Given the description of an element on the screen output the (x, y) to click on. 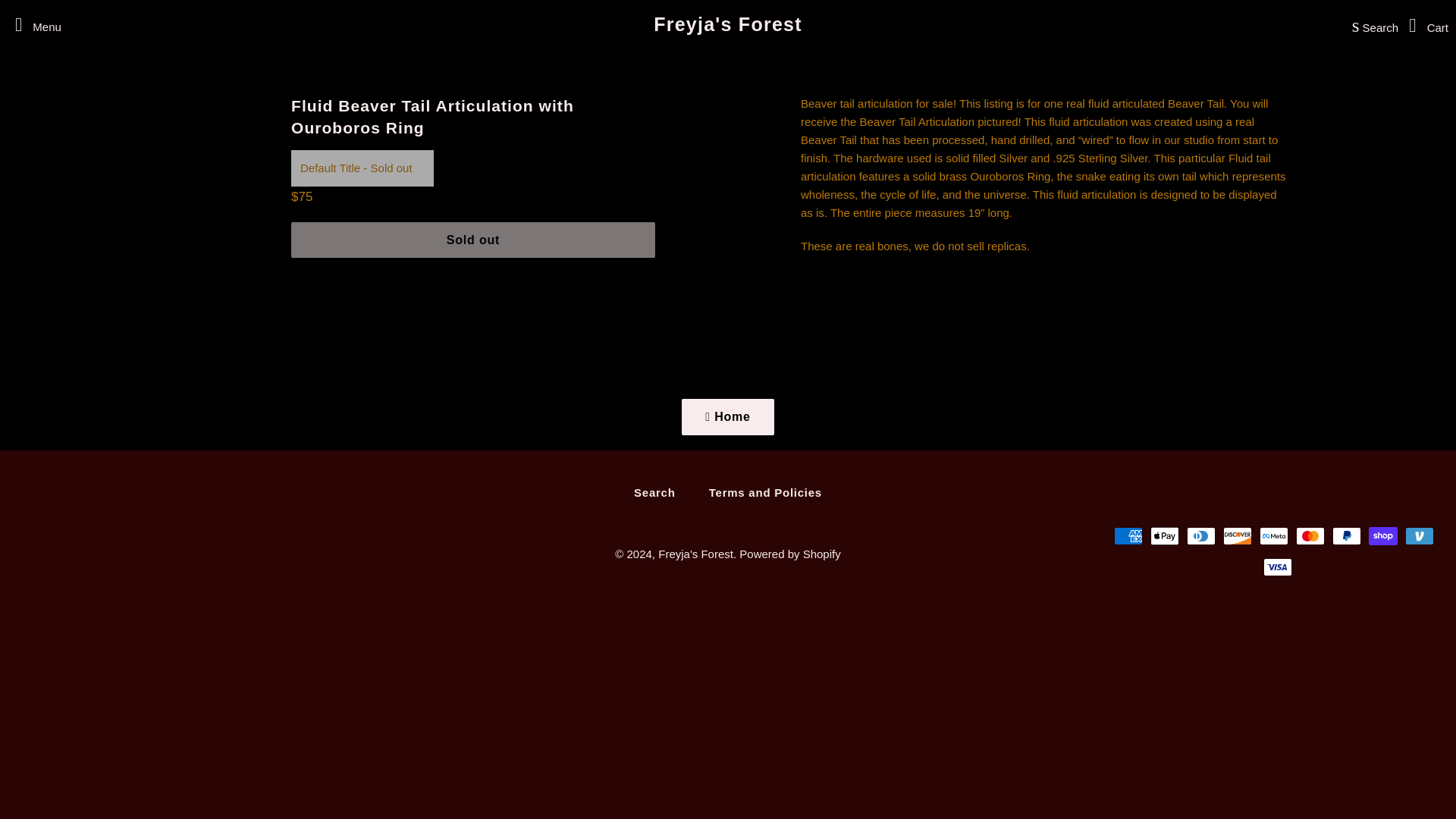
Search (654, 492)
Search (1370, 23)
Mastercard (1309, 536)
Venmo (1419, 536)
Sold out (473, 239)
Meta Pay (1273, 536)
Powered by Shopify (789, 553)
Diners Club (1200, 536)
Freyja's Forest (727, 24)
Freyja's Forest (695, 553)
